Given the description of an element on the screen output the (x, y) to click on. 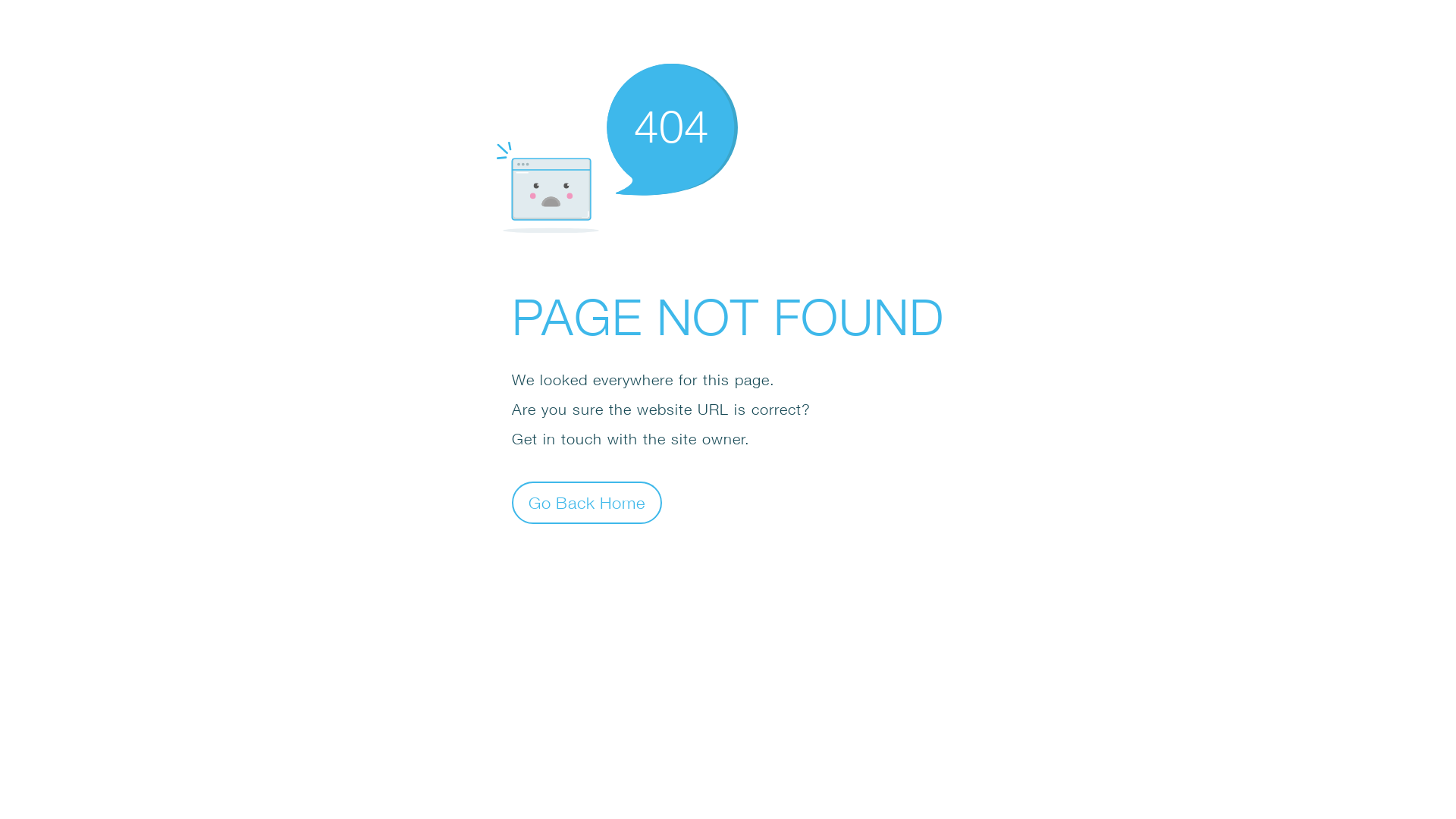
Go Back Home Element type: text (586, 502)
